Given the description of an element on the screen output the (x, y) to click on. 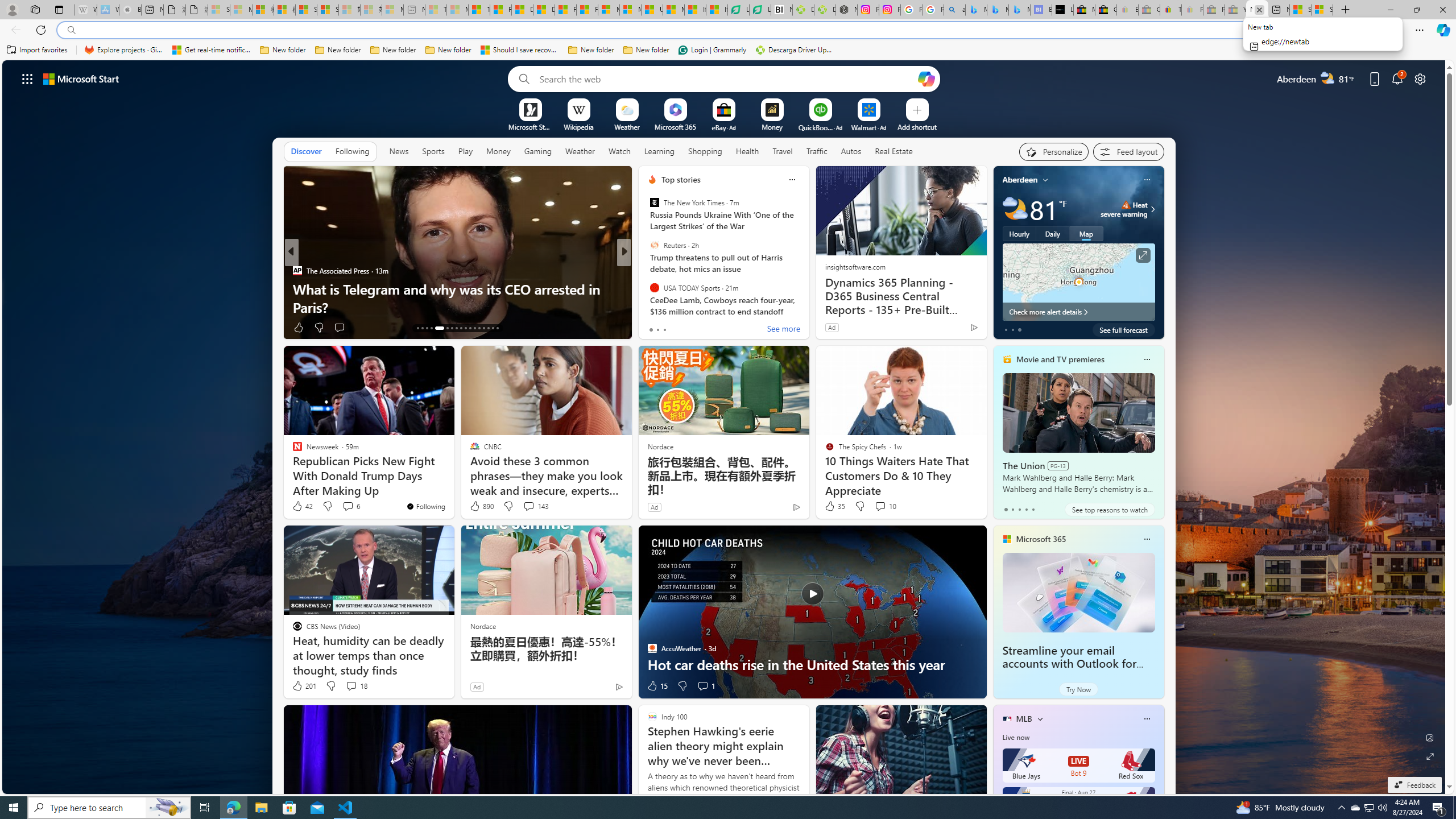
Health (746, 151)
Microsoft Start Gaming (529, 126)
Descarga Driver Updater (824, 9)
This story is trending (951, 329)
Business Insider (647, 270)
890 Like (480, 505)
View comments 14 Comment (703, 327)
Class: weather-arrow-glyph (1152, 208)
Dislike (682, 685)
View comments 10 Comment (879, 505)
tab-2 (1019, 509)
113 Like (654, 327)
Descarga Driver Updater (794, 49)
42 Like (301, 505)
